Given the description of an element on the screen output the (x, y) to click on. 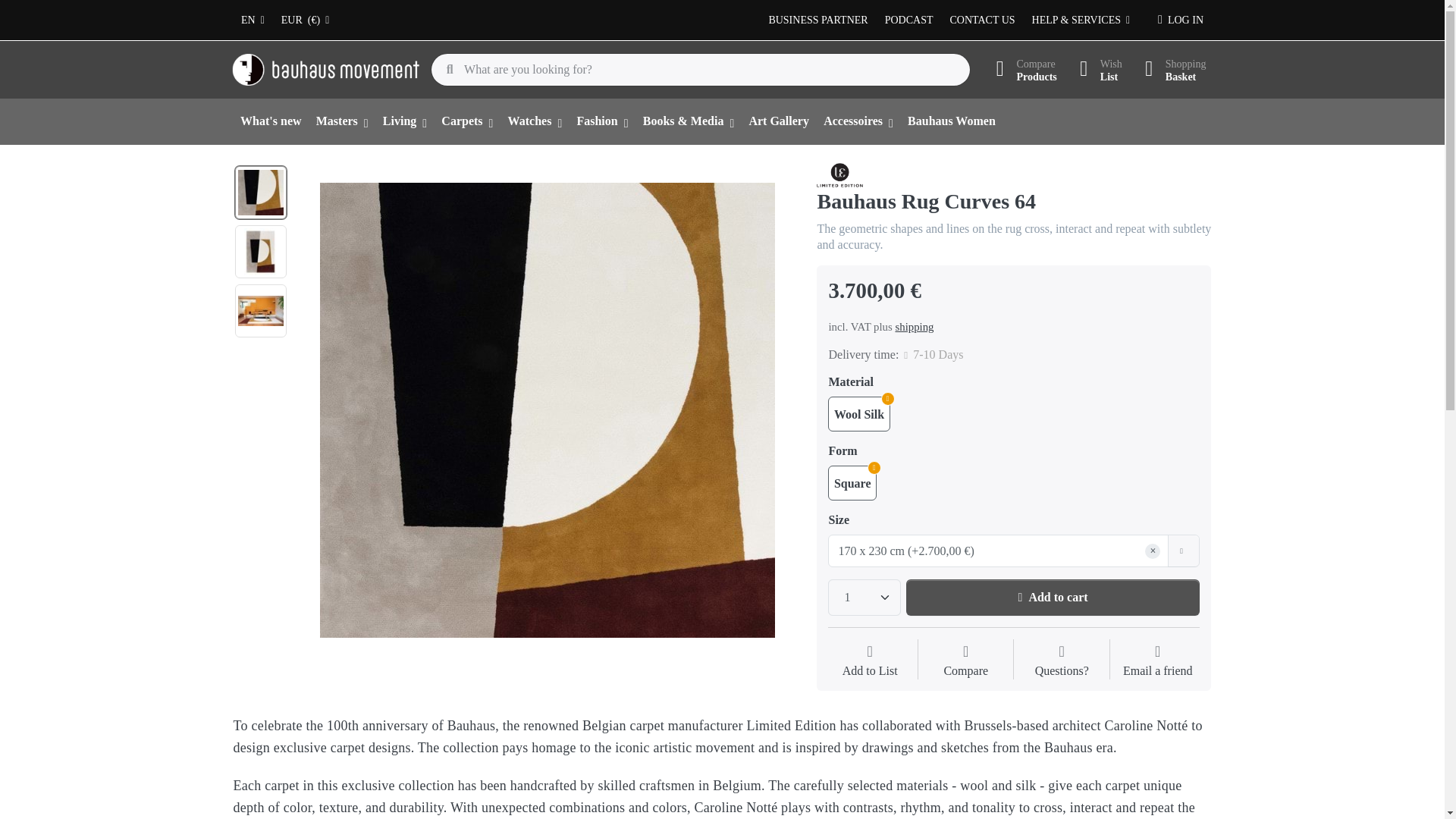
BUSINESS PARTNER (818, 20)
CONTACT US (982, 20)
PODCAST (908, 20)
EN (252, 20)
